Given the description of an element on the screen output the (x, y) to click on. 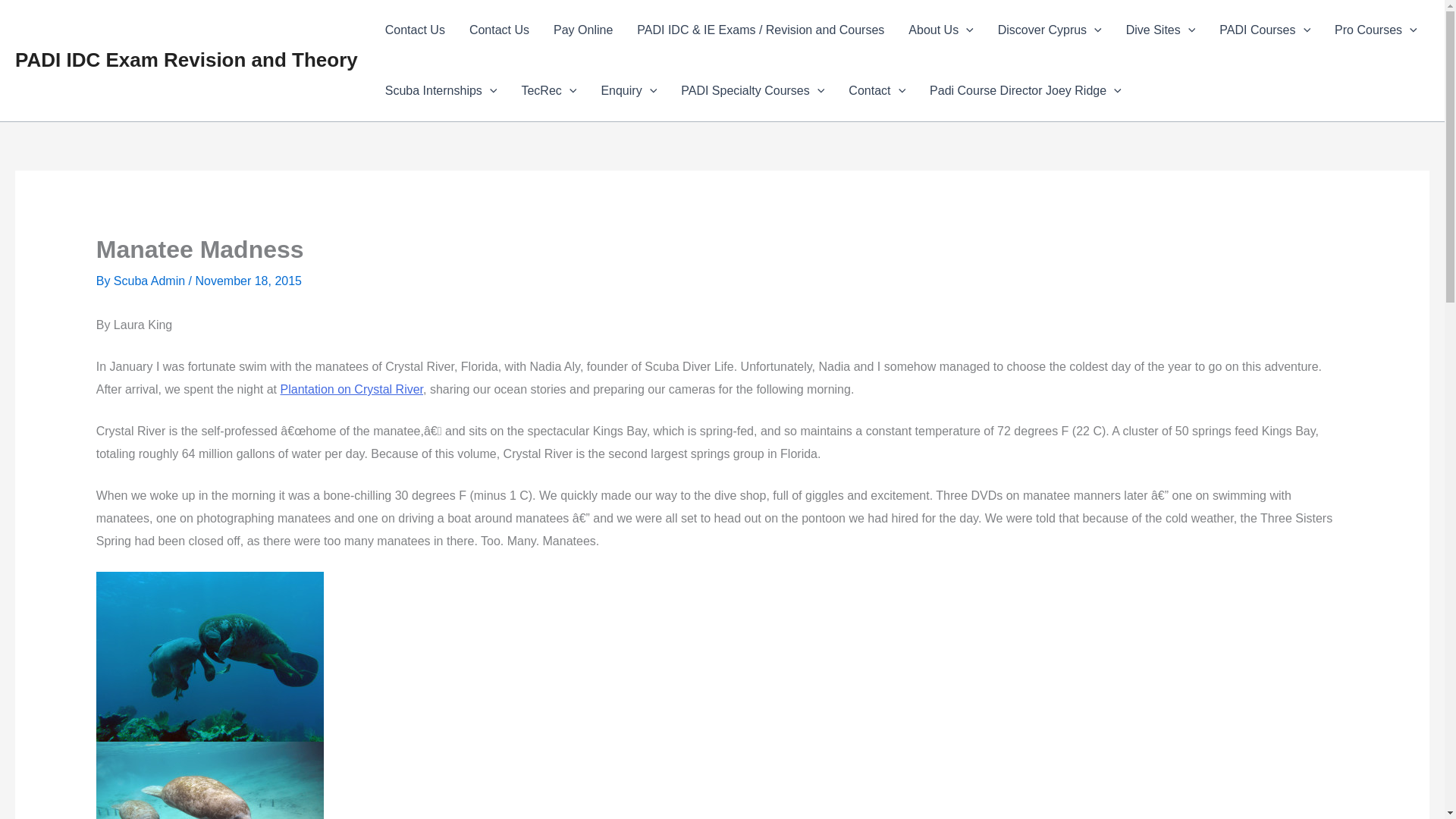
Contact Us (499, 30)
PADI Courses (1264, 30)
PADI IDC Exam Revision and Theory (186, 59)
Discover Cyprus (1049, 30)
Pay Online (582, 30)
About Us (940, 30)
Dive Sites (1160, 30)
View all posts by Scuba Admin (151, 280)
Contact Us (414, 30)
